Given the description of an element on the screen output the (x, y) to click on. 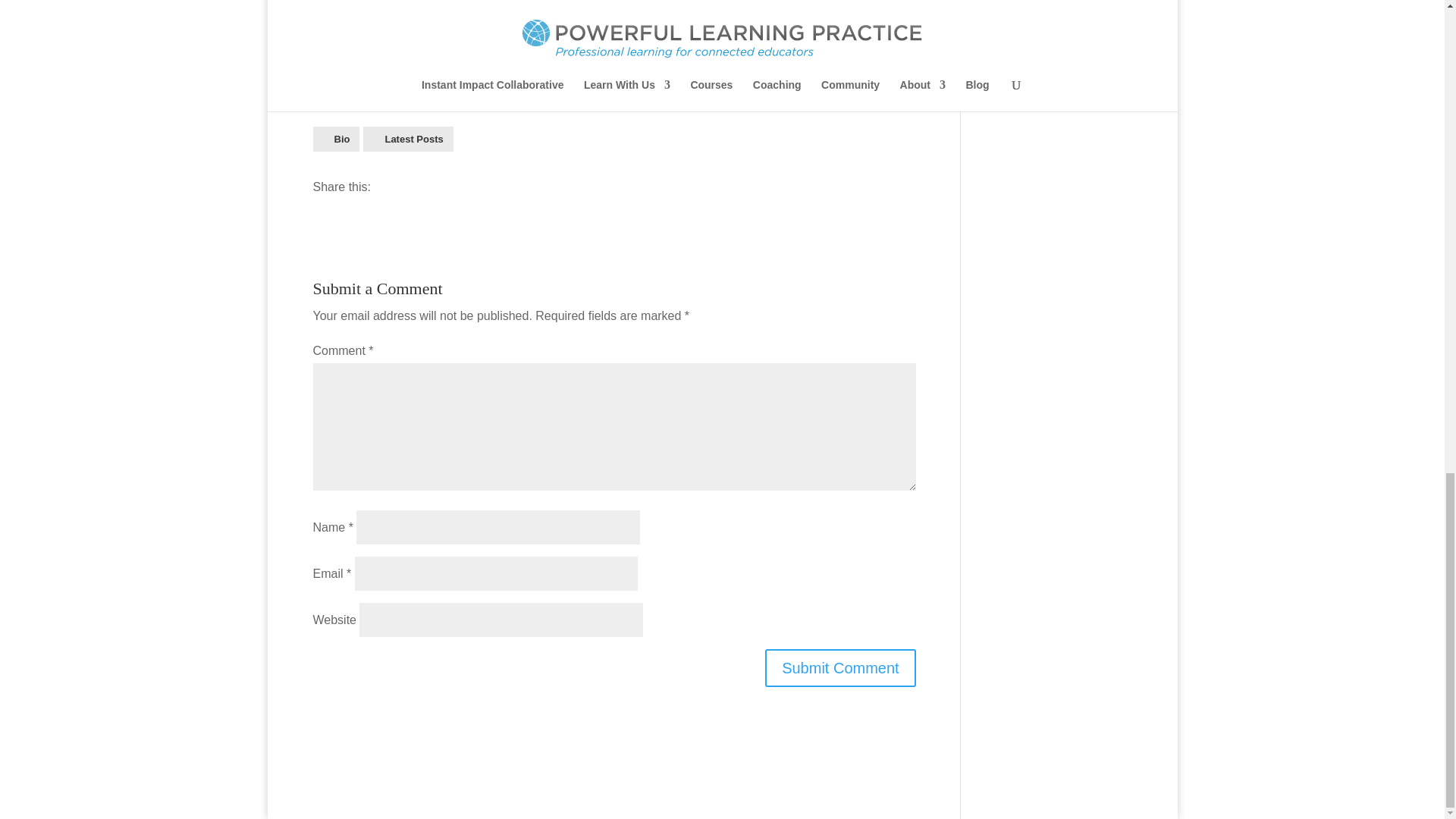
Bio (336, 138)
Submit Comment (840, 668)
Submit Comment (840, 668)
Latest Posts (407, 138)
Tell me More about the Instant Impact Collaborative Cohort (489, 80)
